Given the description of an element on the screen output the (x, y) to click on. 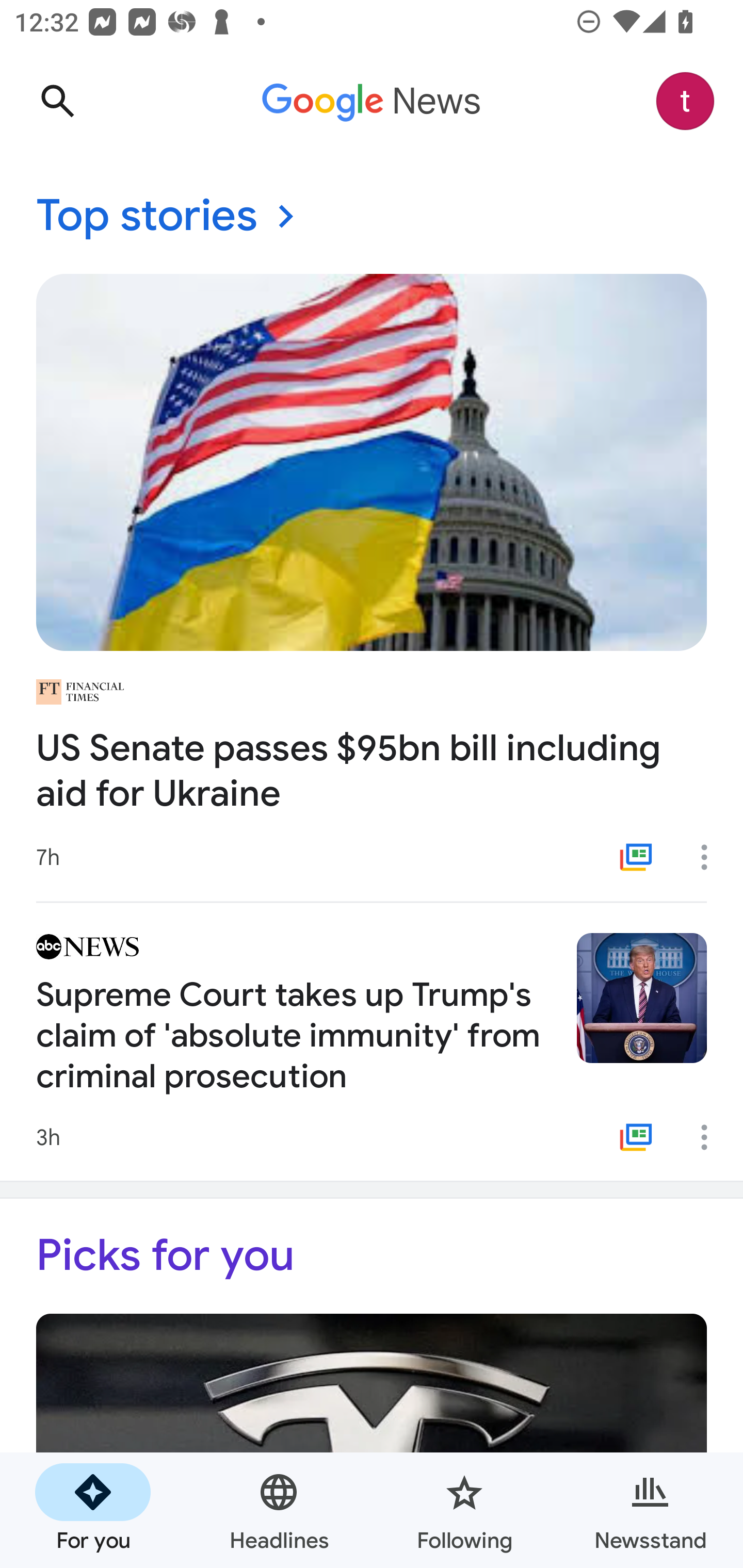
Search (57, 100)
Top stories (371, 216)
More options (711, 856)
More options (711, 1137)
For you (92, 1509)
Headlines (278, 1509)
Following (464, 1509)
Newsstand (650, 1509)
